Given the description of an element on the screen output the (x, y) to click on. 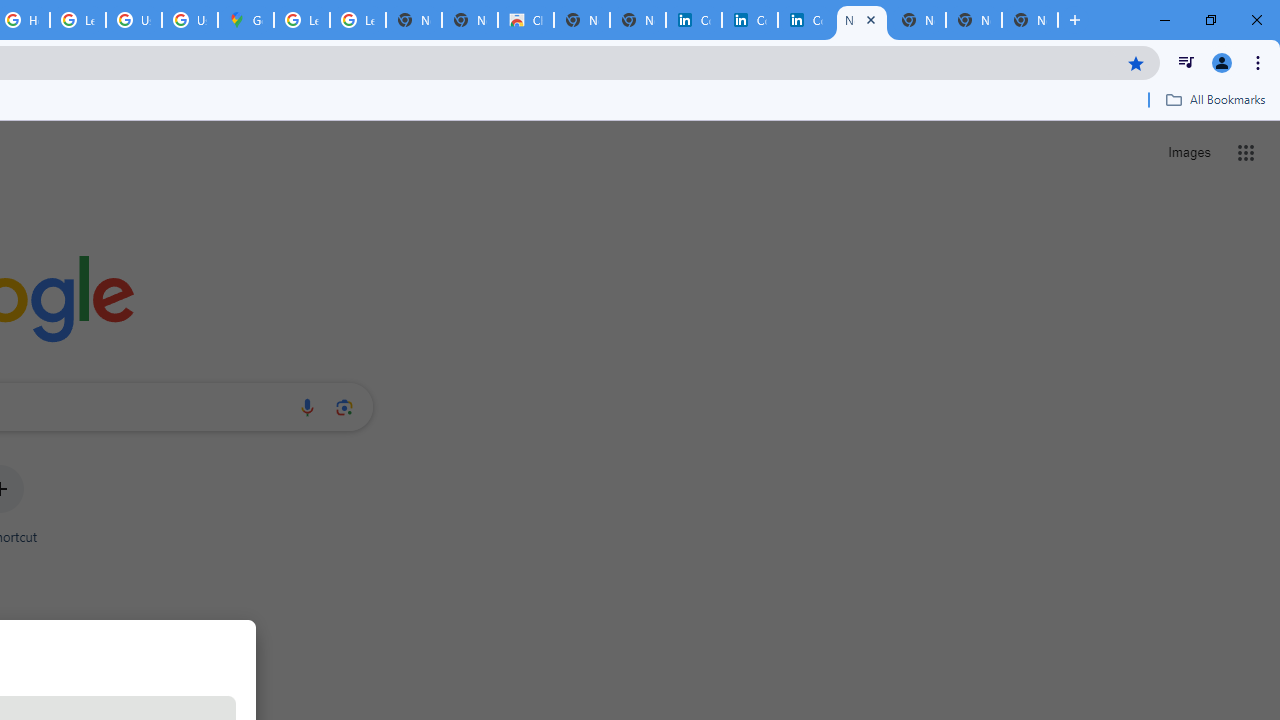
Chrome Web Store (525, 20)
